Given the description of an element on the screen output the (x, y) to click on. 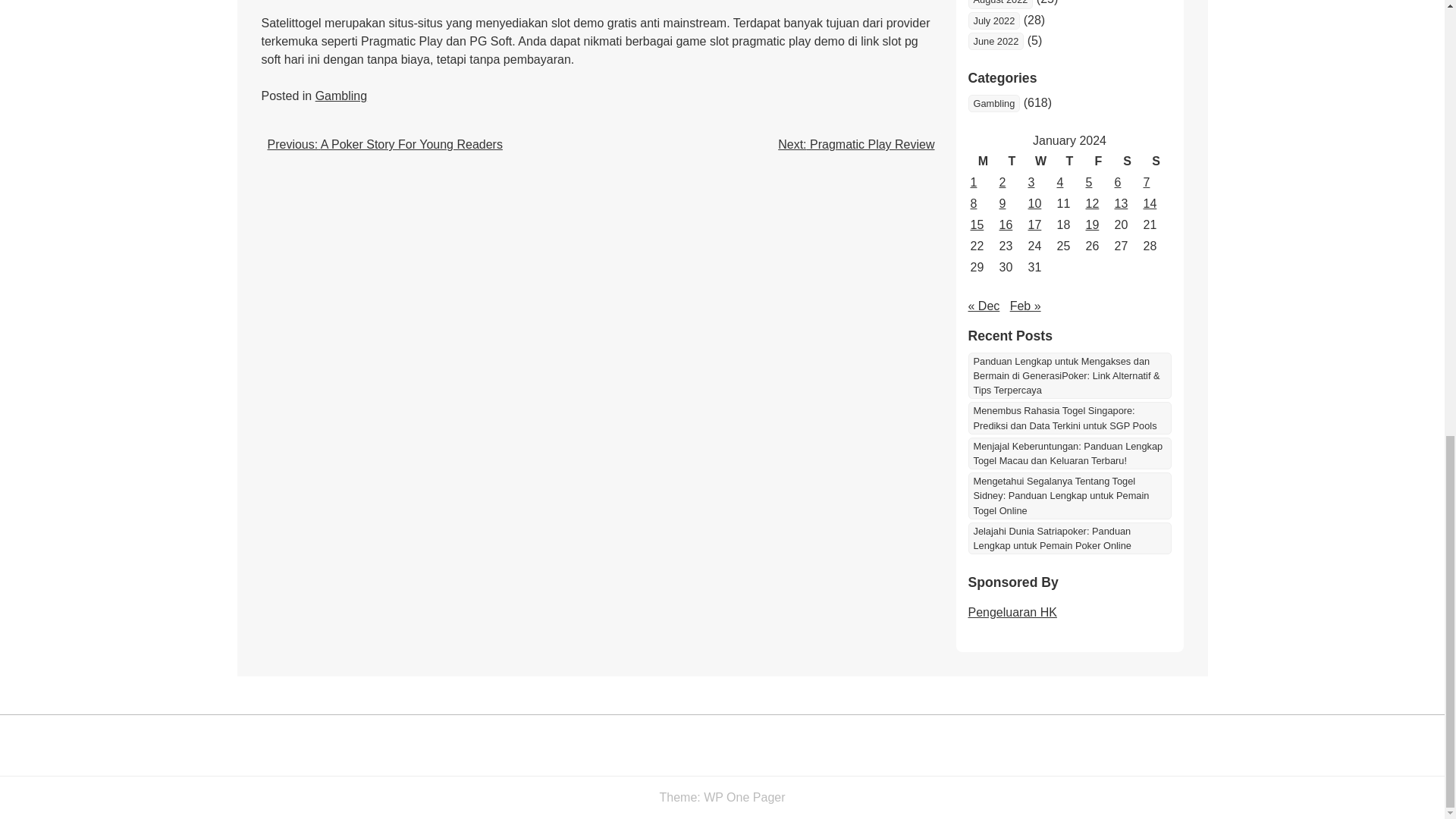
Thursday (1069, 161)
Saturday (1126, 161)
Sunday (1155, 161)
Previous: A Poker Story For Young Readers (384, 144)
Wednesday (1040, 161)
July 2022 (994, 20)
Monday (982, 161)
Gambling (340, 95)
Next: Pragmatic Play Review (855, 144)
Tuesday (1011, 161)
